Given the description of an element on the screen output the (x, y) to click on. 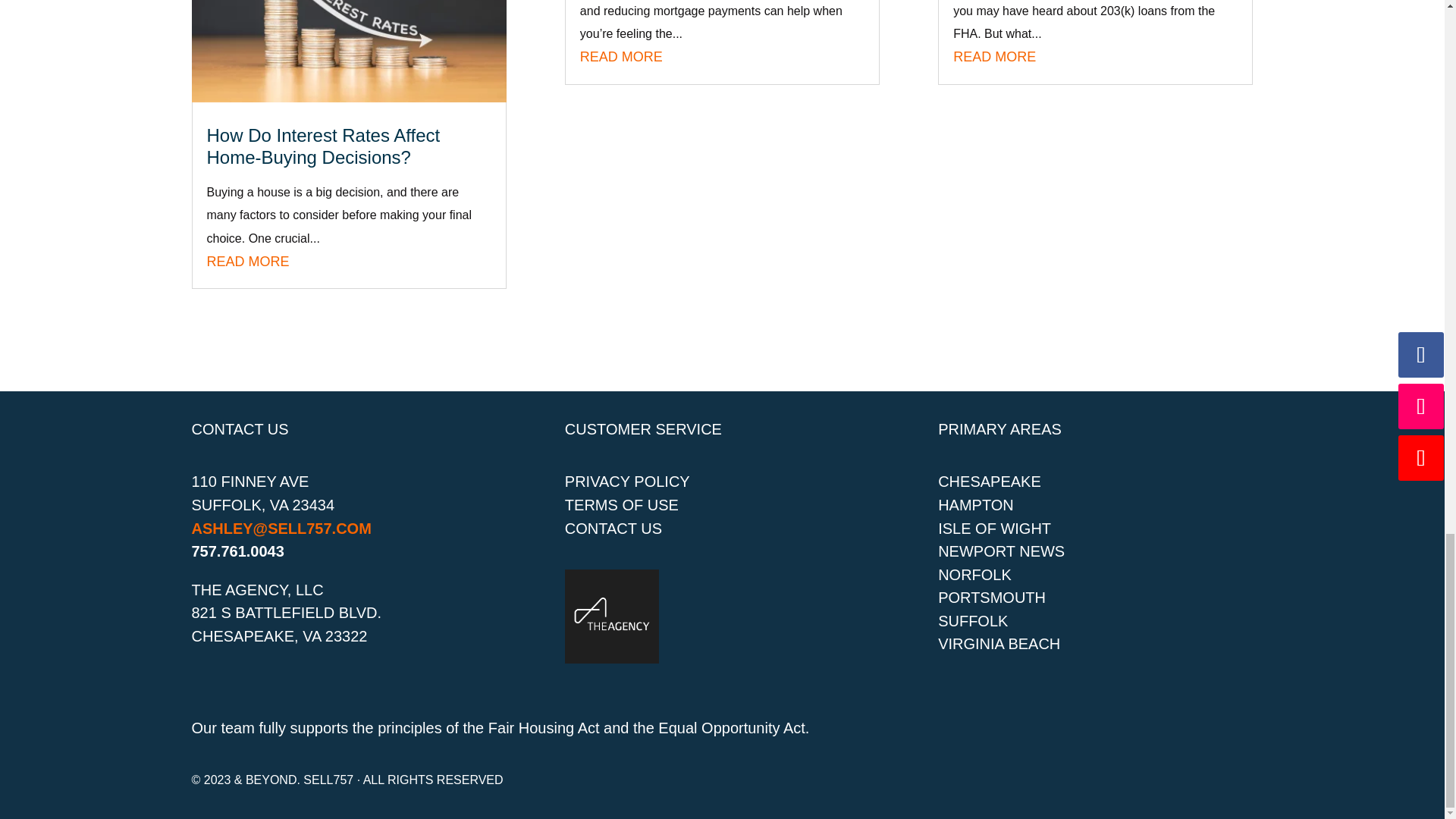
TERMS OF USE (621, 504)
PRIVACY POLICY (627, 481)
How Do Interest Rates Affect Home-Buying Decisions? (322, 146)
READ MORE (994, 56)
READ MORE (620, 56)
READ MORE (247, 261)
image1 (611, 616)
